Given the description of an element on the screen output the (x, y) to click on. 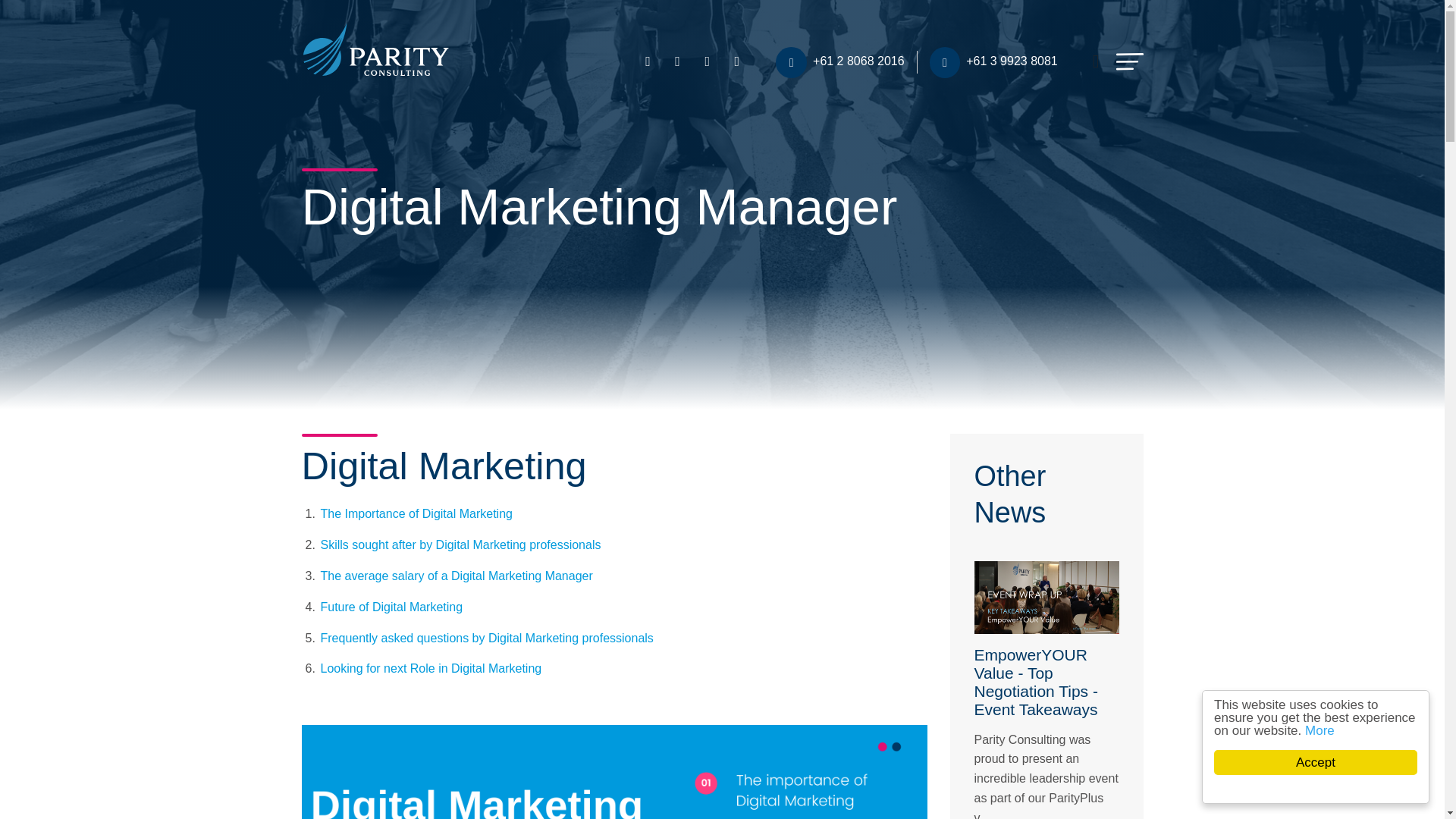
The average salary of a Digital Marketing Manager (456, 575)
More (1334, 730)
Future of Digital Marketing (391, 606)
Go to the Homepage (375, 48)
Cookie Consent plugin for the EU cookie law (1330, 788)
The Importance of Digital Marketing (416, 513)
Skills sought after by Digital Marketing professionals (459, 544)
Looking for next Role in Digital Marketing (430, 667)
Menu Created with Sketch. (1129, 60)
Menu Created with Sketch. (1129, 61)
Accept (1330, 762)
